Given the description of an element on the screen output the (x, y) to click on. 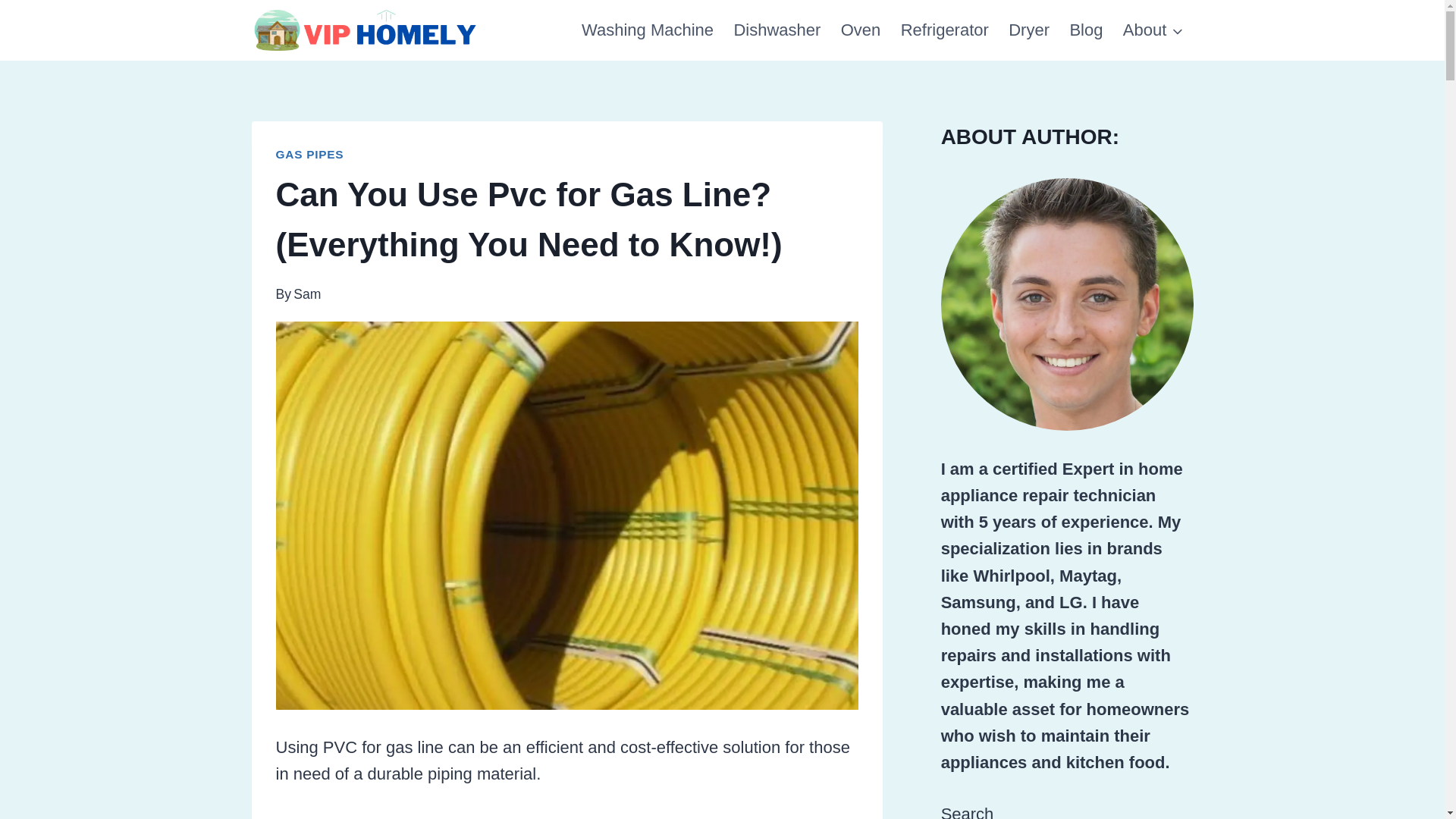
Blog (1085, 30)
Oven (861, 30)
Sam (307, 294)
Refrigerator (944, 30)
Washing Machine (647, 30)
Dishwasher (776, 30)
Dryer (1028, 30)
GAS PIPES (309, 154)
About (1153, 30)
